Given the description of an element on the screen output the (x, y) to click on. 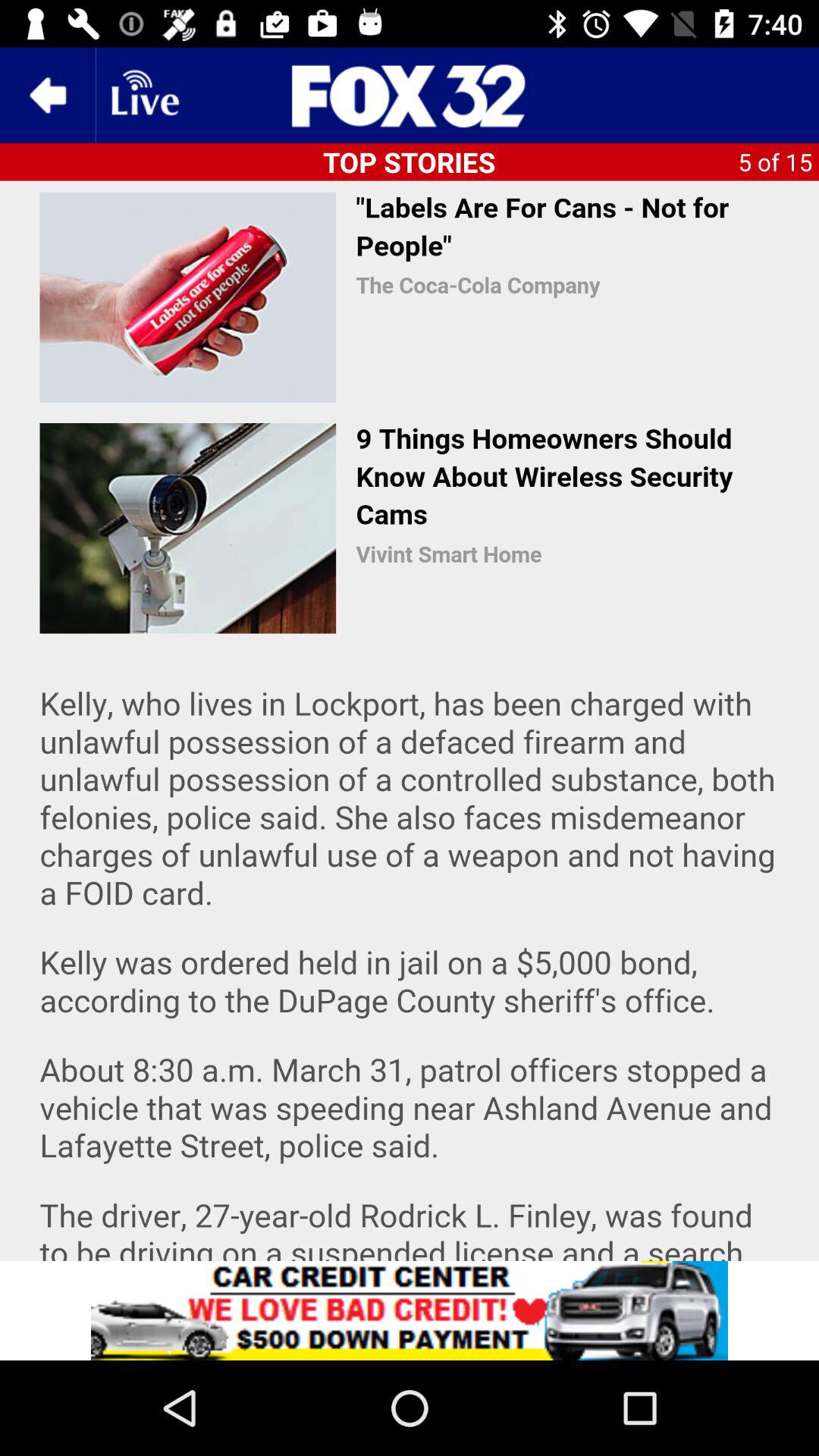
open livestream (143, 95)
